Given the description of an element on the screen output the (x, y) to click on. 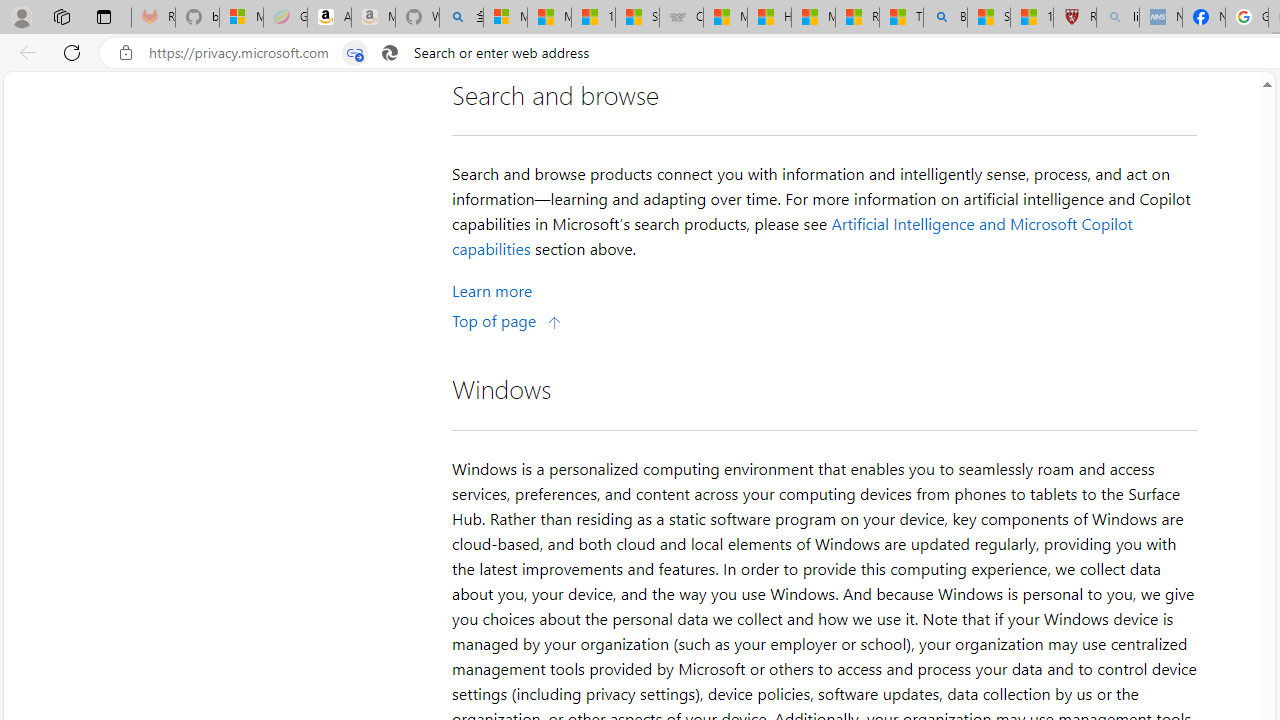
Learn More about Search and browse (491, 290)
Tabs in split screen (354, 53)
Robert H. Shmerling, MD - Harvard Health (1074, 17)
Combat Siege (681, 17)
Search icon (389, 53)
